Given the description of an element on the screen output the (x, y) to click on. 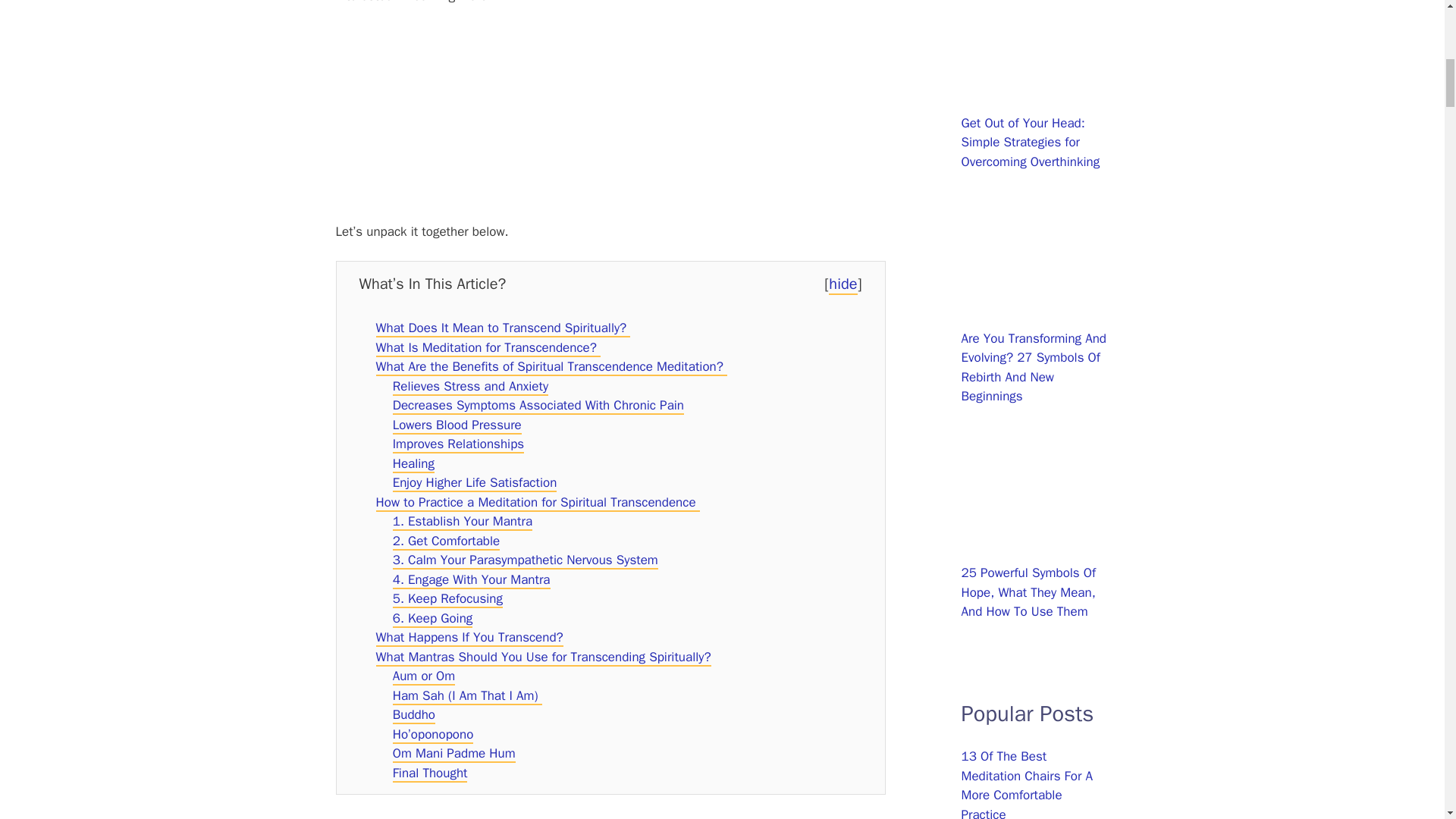
Aum or Om (424, 676)
Decreases Symptoms Associated With Chronic Pain (538, 405)
1. Establish Your Mantra (462, 521)
How to Practice a Meditation for Spiritual Transcendence  (537, 502)
Buddho (414, 714)
5. Keep Refocusing (447, 599)
Improves Relationships (458, 444)
3. Calm Your Parasympathetic Nervous System (525, 560)
Om Mani Padme Hum (454, 753)
